Given the description of an element on the screen output the (x, y) to click on. 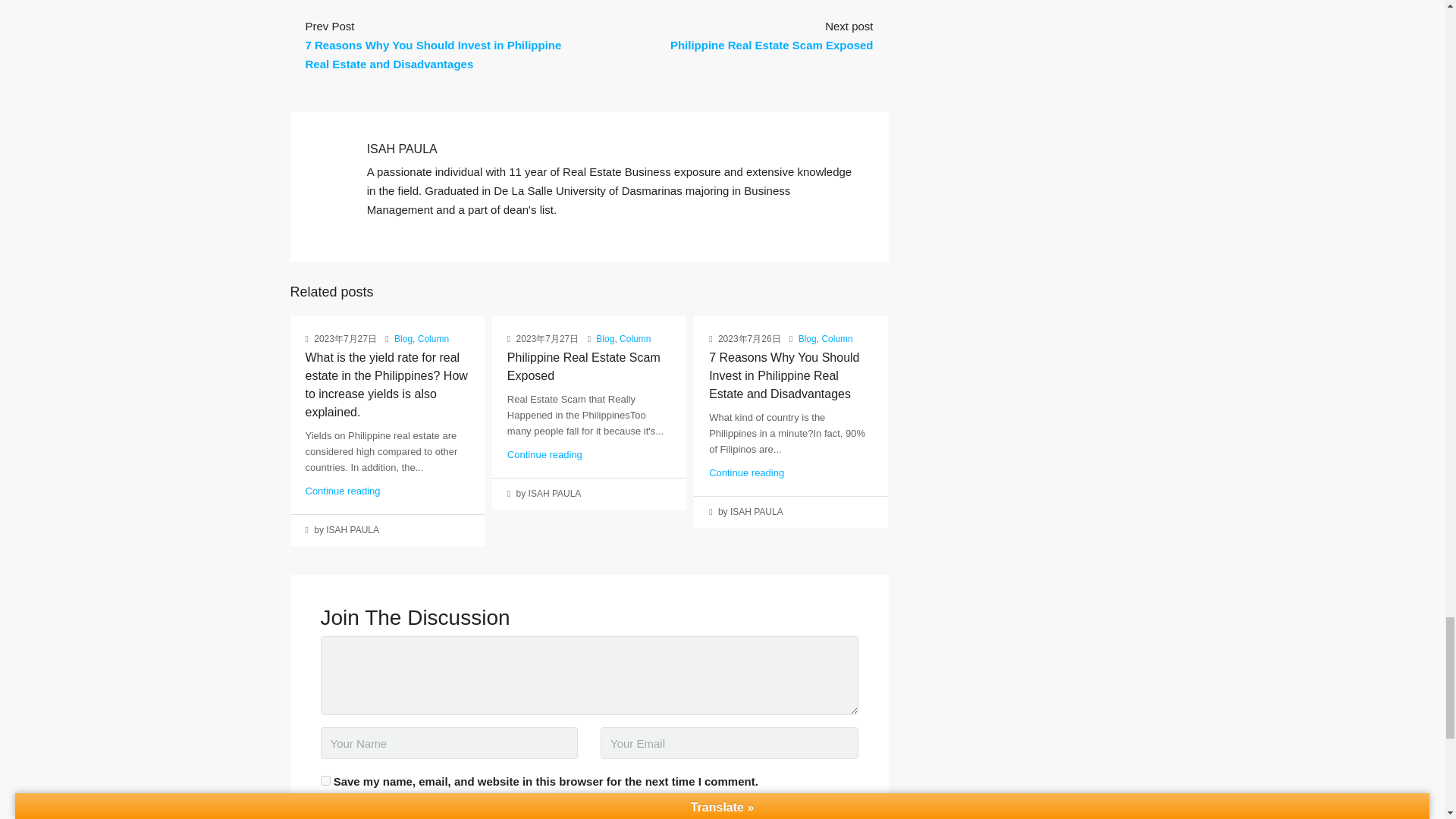
Philippine Real Estate Scam Exposed (771, 44)
Blog (403, 338)
Column (836, 338)
Continue reading (746, 472)
Submit (339, 814)
Continue reading (544, 454)
Column (635, 338)
Continue reading (342, 490)
Philippine Real Estate Scam Exposed (583, 366)
yes (325, 780)
Blog (604, 338)
Blog (806, 338)
